Given the description of an element on the screen output the (x, y) to click on. 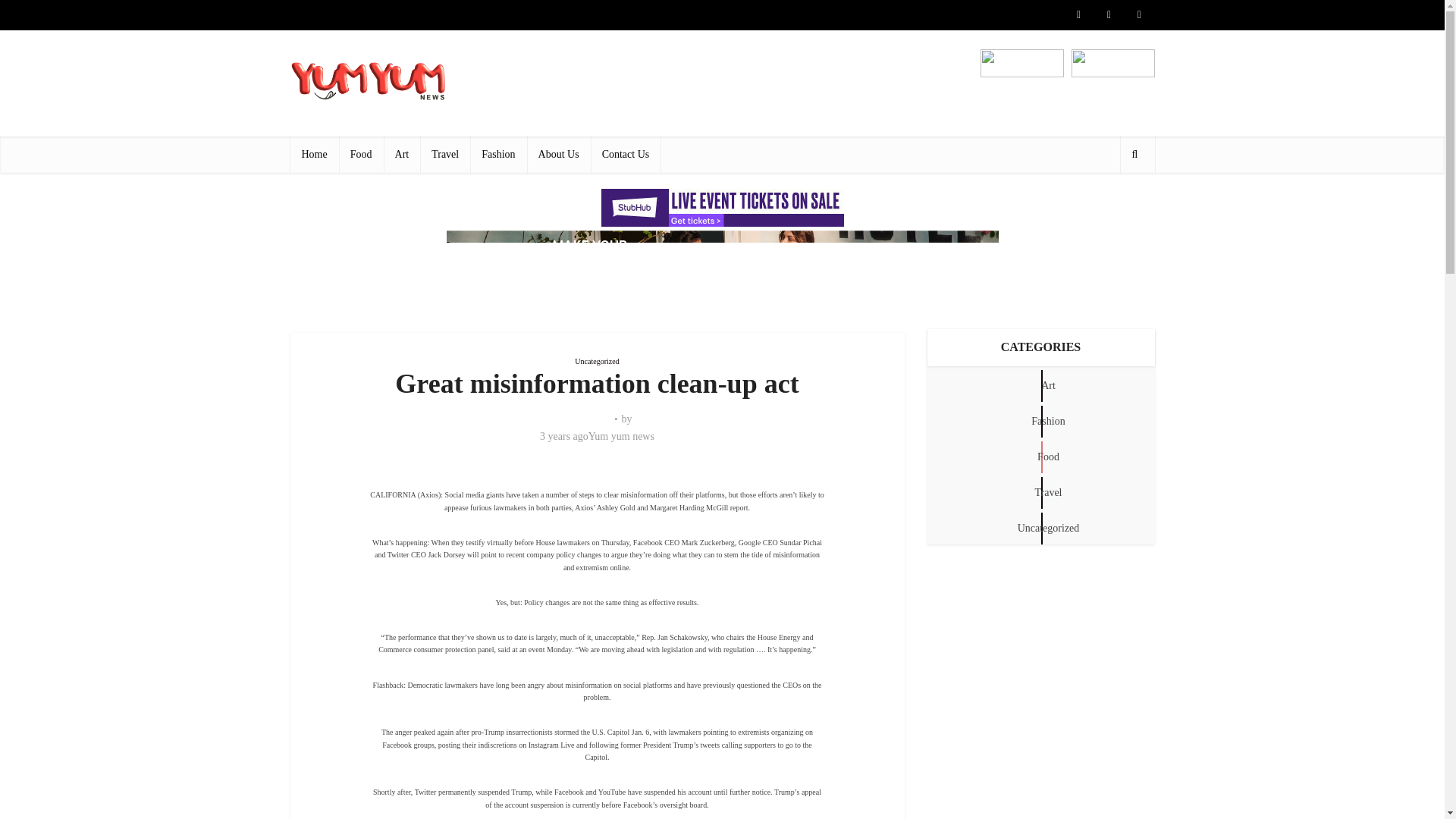
Art (402, 154)
Food (361, 154)
Home (313, 154)
Contact Us (626, 154)
Travel (445, 154)
Yum yum news (620, 436)
Fashion (497, 154)
About Us (559, 154)
Uncategorized (596, 361)
